Given the description of an element on the screen output the (x, y) to click on. 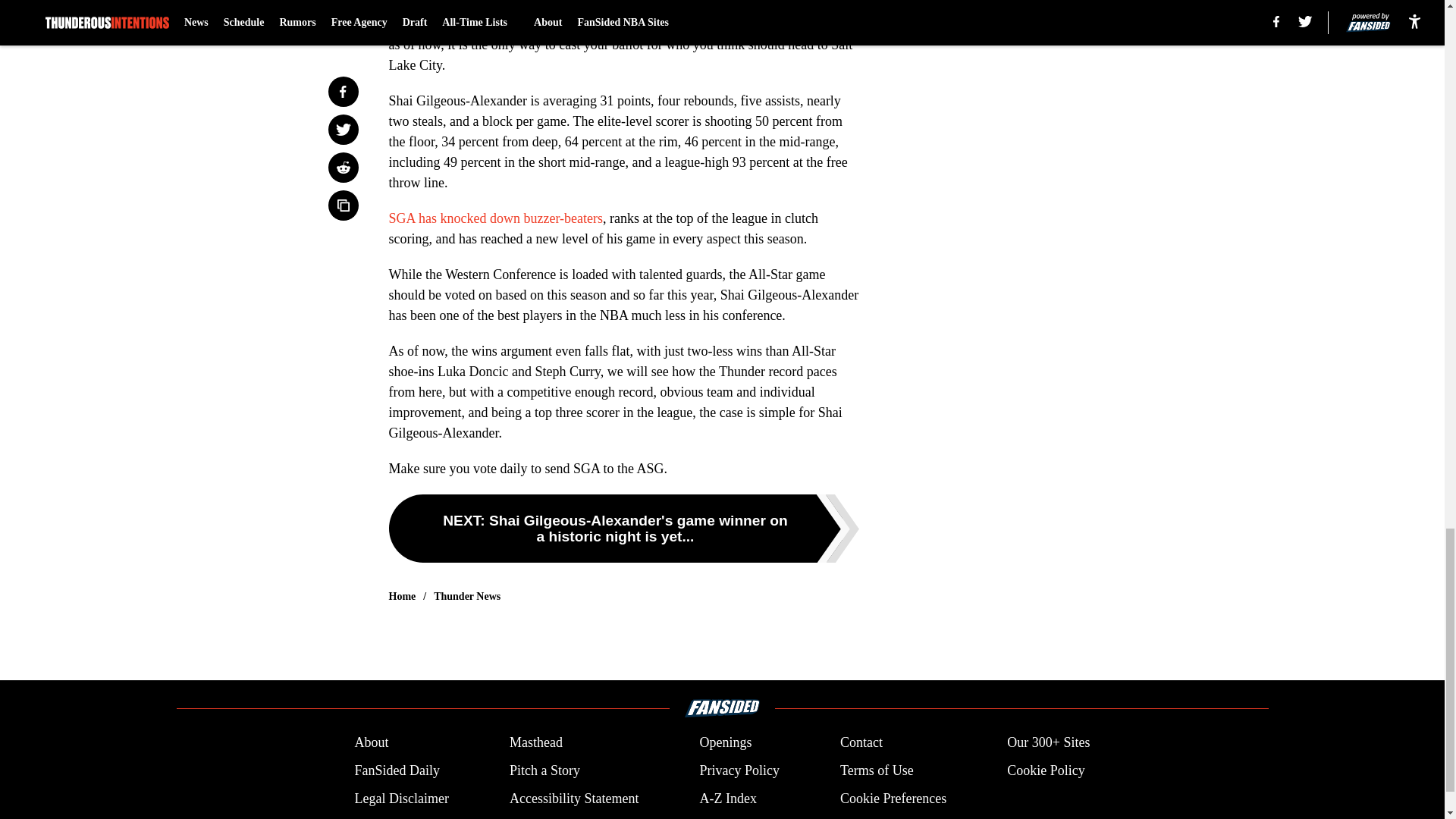
SGA has knocked down buzzer-beaters (495, 218)
Privacy Policy (738, 770)
Contact (861, 742)
Masthead (535, 742)
Openings (724, 742)
Legal Disclaimer (400, 798)
FanSided Daily (396, 770)
Thunder News (466, 596)
Home (401, 596)
go to NBA.com and vote (531, 5)
Pitch a Story (544, 770)
Cookie Policy (1045, 770)
Terms of Use (877, 770)
About (370, 742)
